Given the description of an element on the screen output the (x, y) to click on. 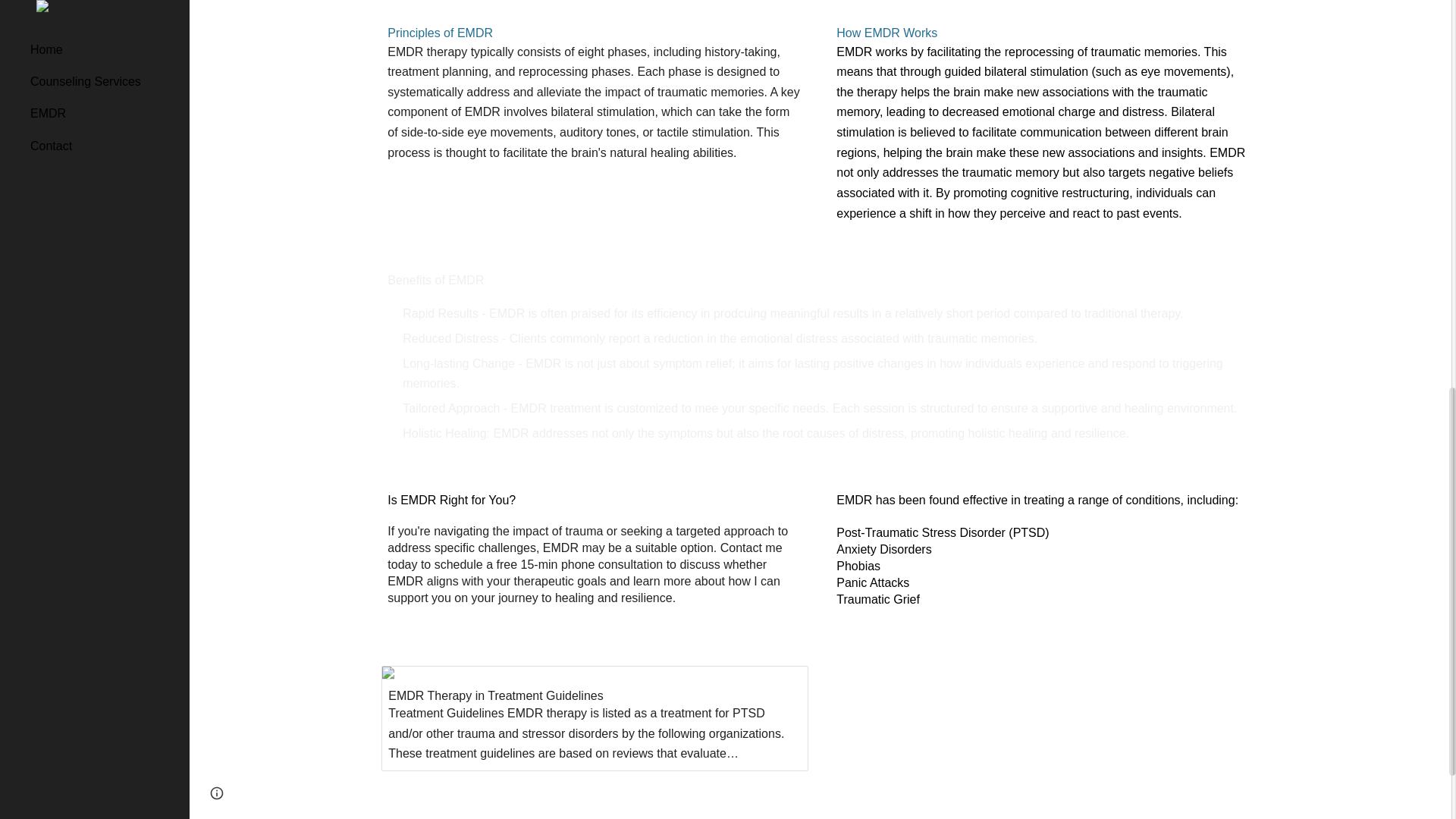
Notice of Privacy Practices (983, 816)
